Given the description of an element on the screen output the (x, y) to click on. 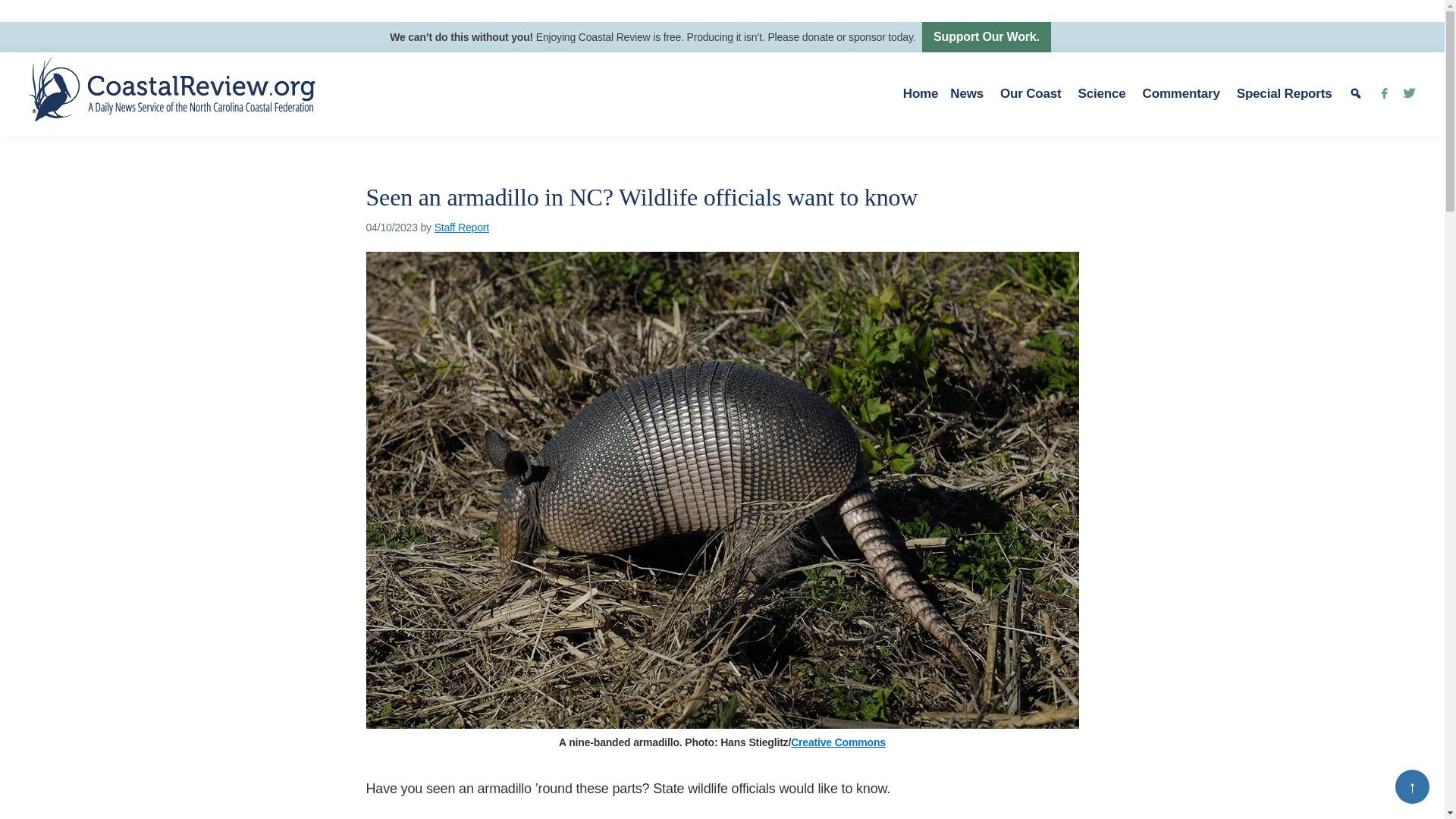
Support Our Work. (986, 37)
Our Coast (1032, 93)
Support Our Work (986, 37)
